Given the description of an element on the screen output the (x, y) to click on. 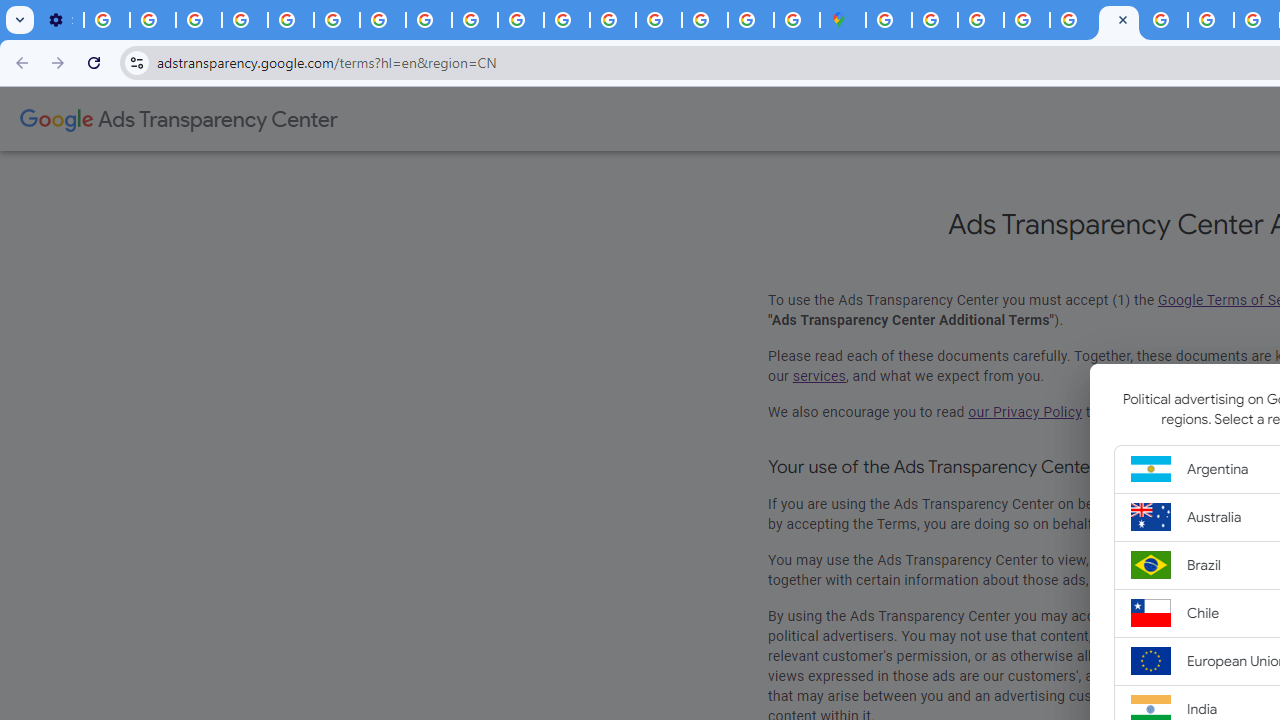
Sign in - Google Accounts (889, 20)
Blogger Policies and Guidelines - Transparency Center (1164, 20)
Terms and Conditions (1072, 20)
Learn how to find your photos - Google Photos Help (153, 20)
services (819, 376)
Sign in - Google Accounts (934, 20)
our Privacy Policy (1024, 412)
Privacy Help Center - Policies Help (428, 20)
Privacy Help Center - Policies Help (1210, 20)
